Given the description of an element on the screen output the (x, y) to click on. 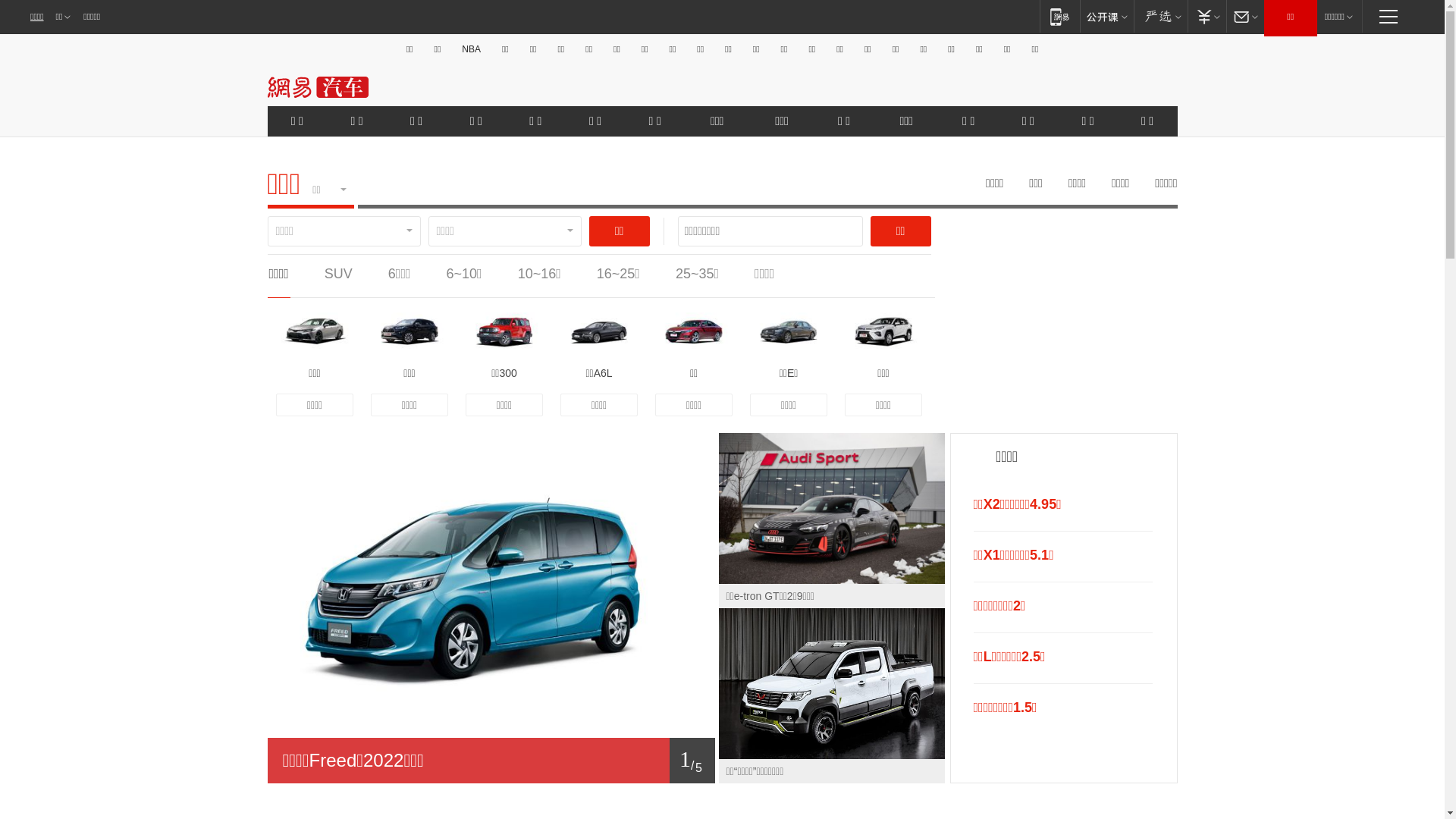
NBA Element type: text (471, 48)
SUV Element type: text (338, 273)
